Given the description of an element on the screen output the (x, y) to click on. 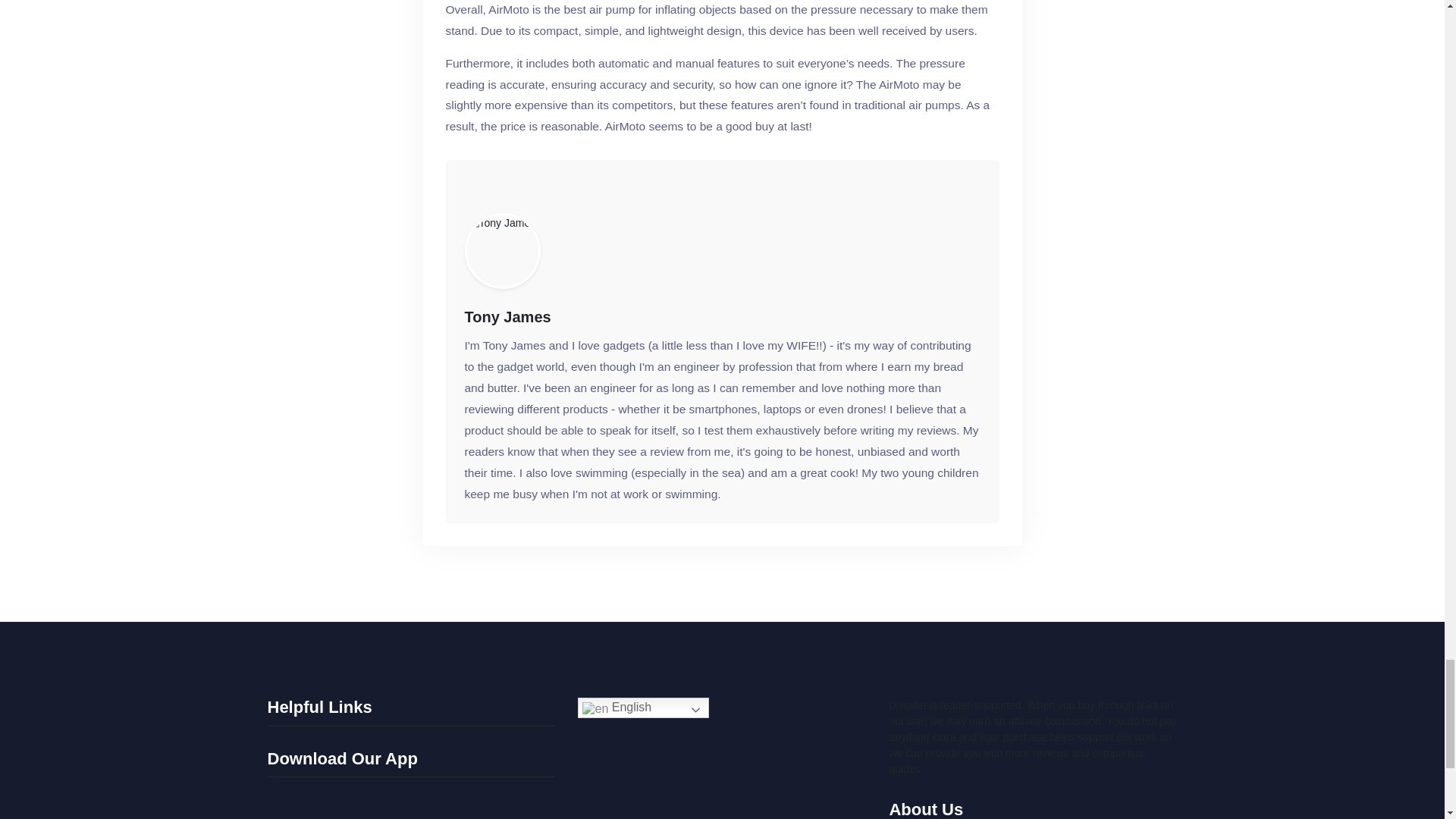
English (643, 707)
